Given the description of an element on the screen output the (x, y) to click on. 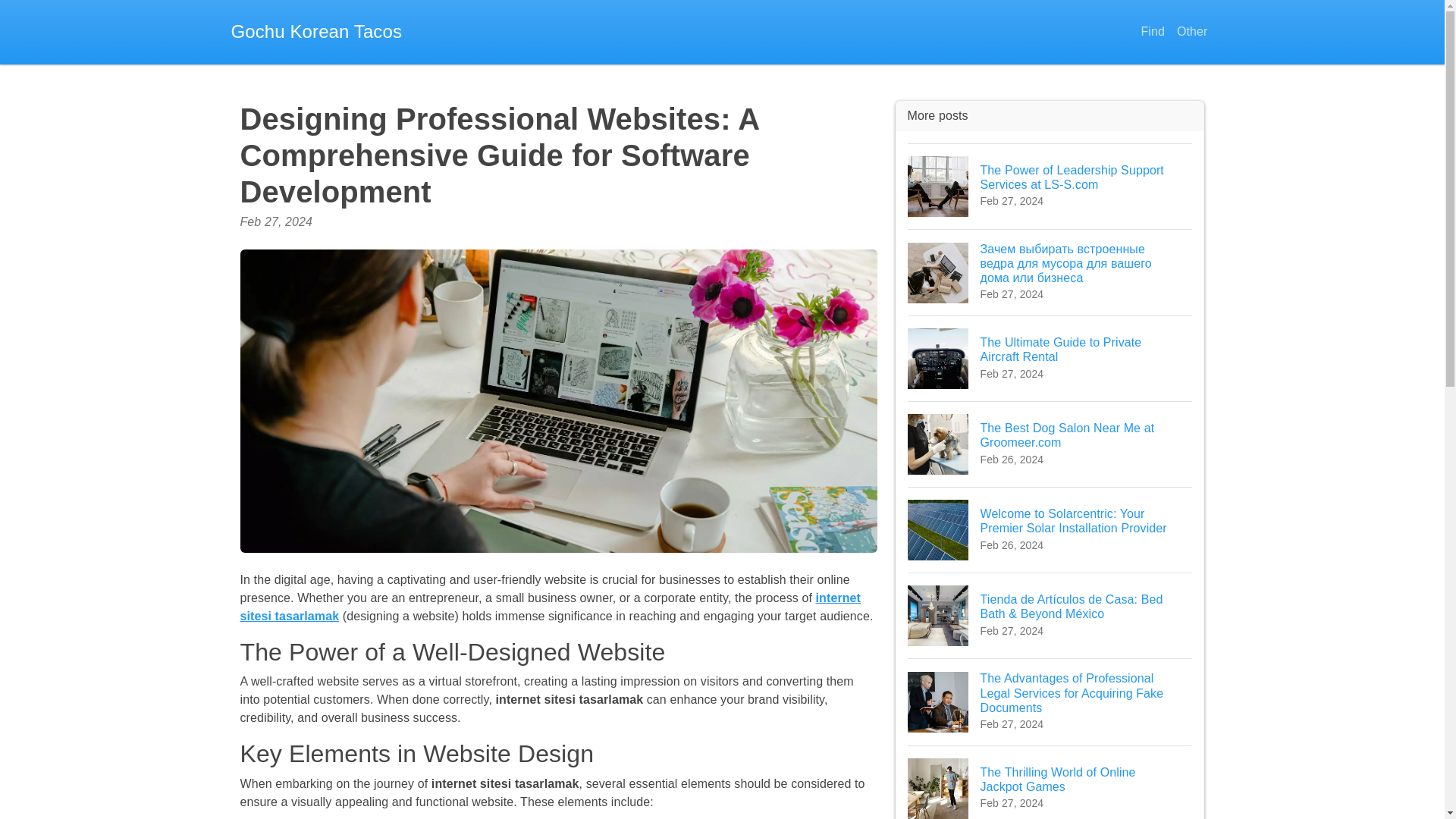
Gochu Korean Tacos (1049, 358)
Find (315, 31)
internet sitesi tasarlamak (1152, 32)
Other (1049, 443)
